Given the description of an element on the screen output the (x, y) to click on. 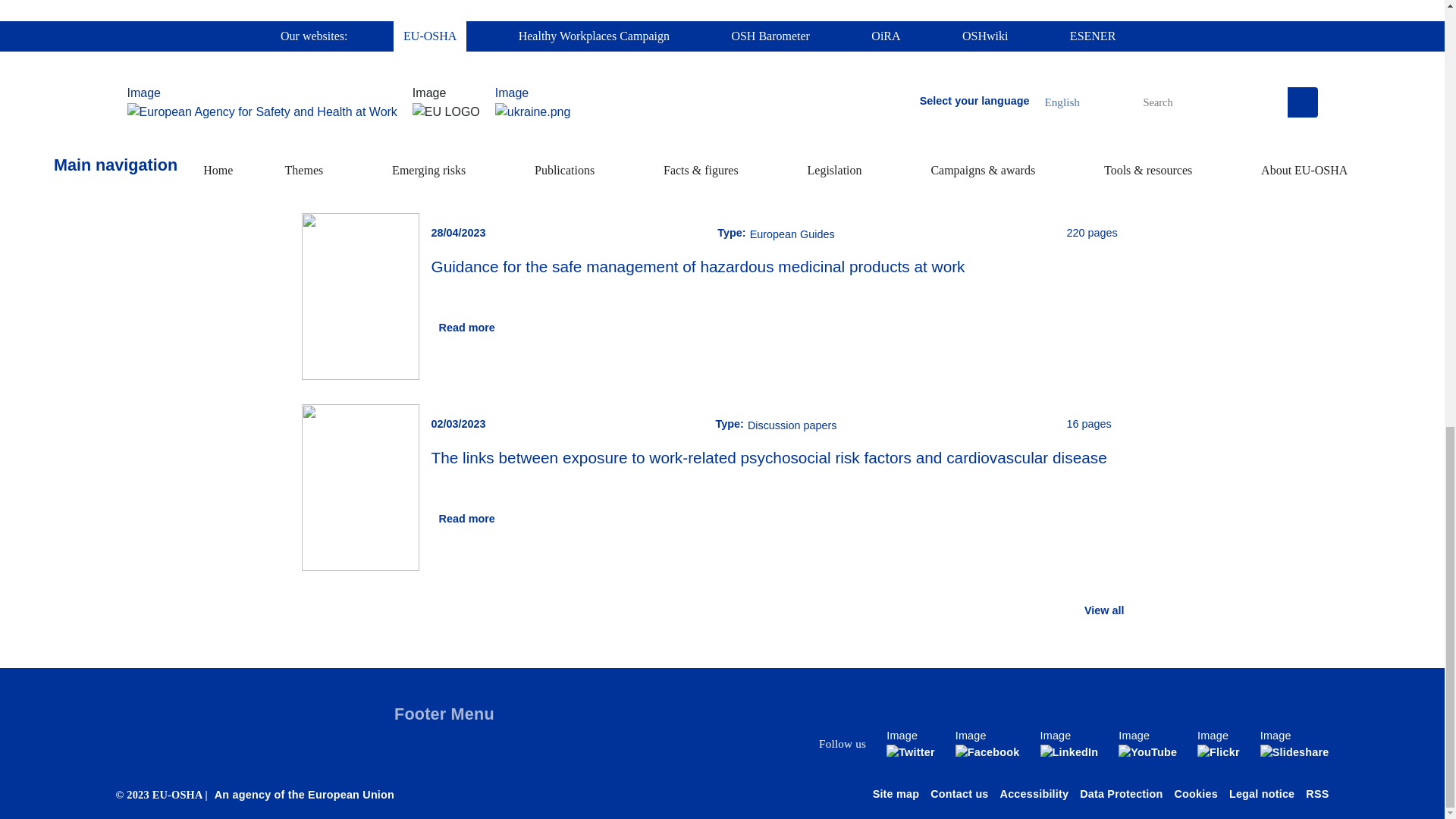
YouTube (1141, 743)
Twitter (904, 743)
LinkedIn (1062, 743)
Facebook (981, 743)
